Given the description of an element on the screen output the (x, y) to click on. 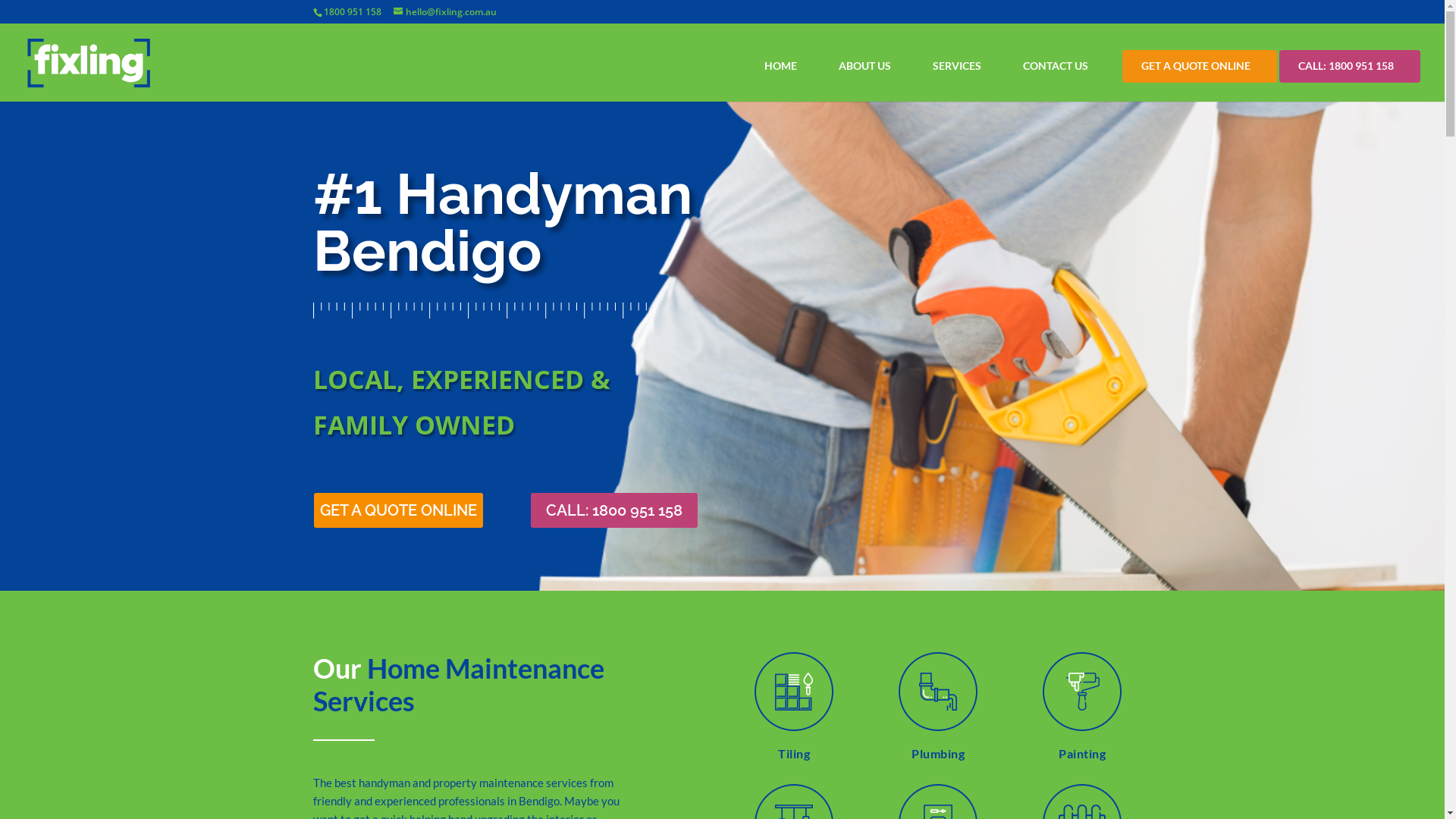
1800 951 158 Element type: text (351, 11)
HOME Element type: text (784, 65)
SERVICES Element type: text (960, 65)
hello@fixling.com.au Element type: text (443, 11)
ABOUT US Element type: text (868, 65)
GET A QUOTE ONLINE Element type: text (398, 509)
CALL: 1800 951 158 Element type: text (1349, 65)
GET A QUOTE ONLINE Element type: text (1199, 65)
CALL: 1800 951 158 Element type: text (613, 509)
CONTACT US Element type: text (1059, 65)
